Given the description of an element on the screen output the (x, y) to click on. 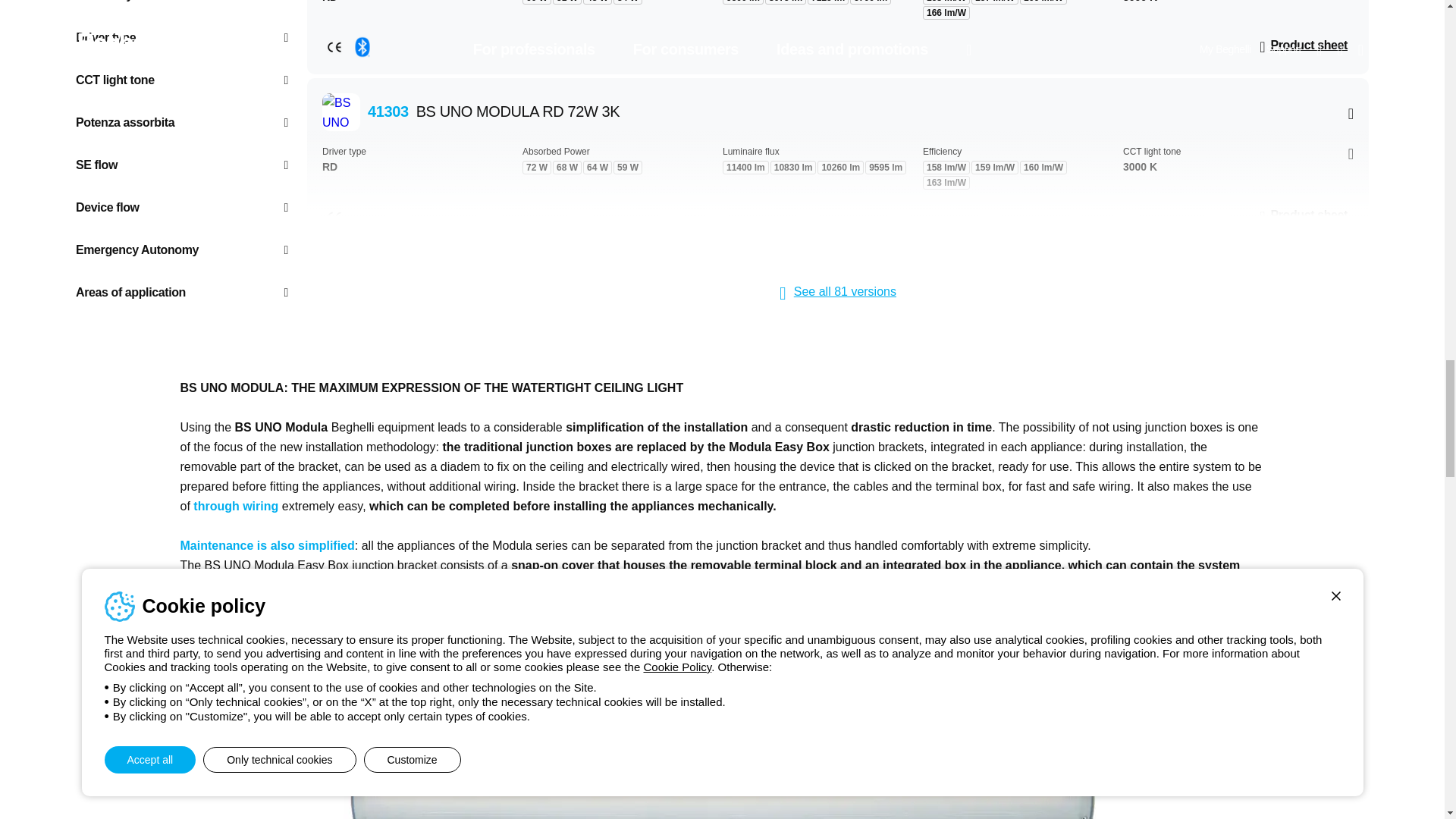
CE (333, 46)
BLUETOOTH (362, 46)
CE (333, 216)
